Given the description of an element on the screen output the (x, y) to click on. 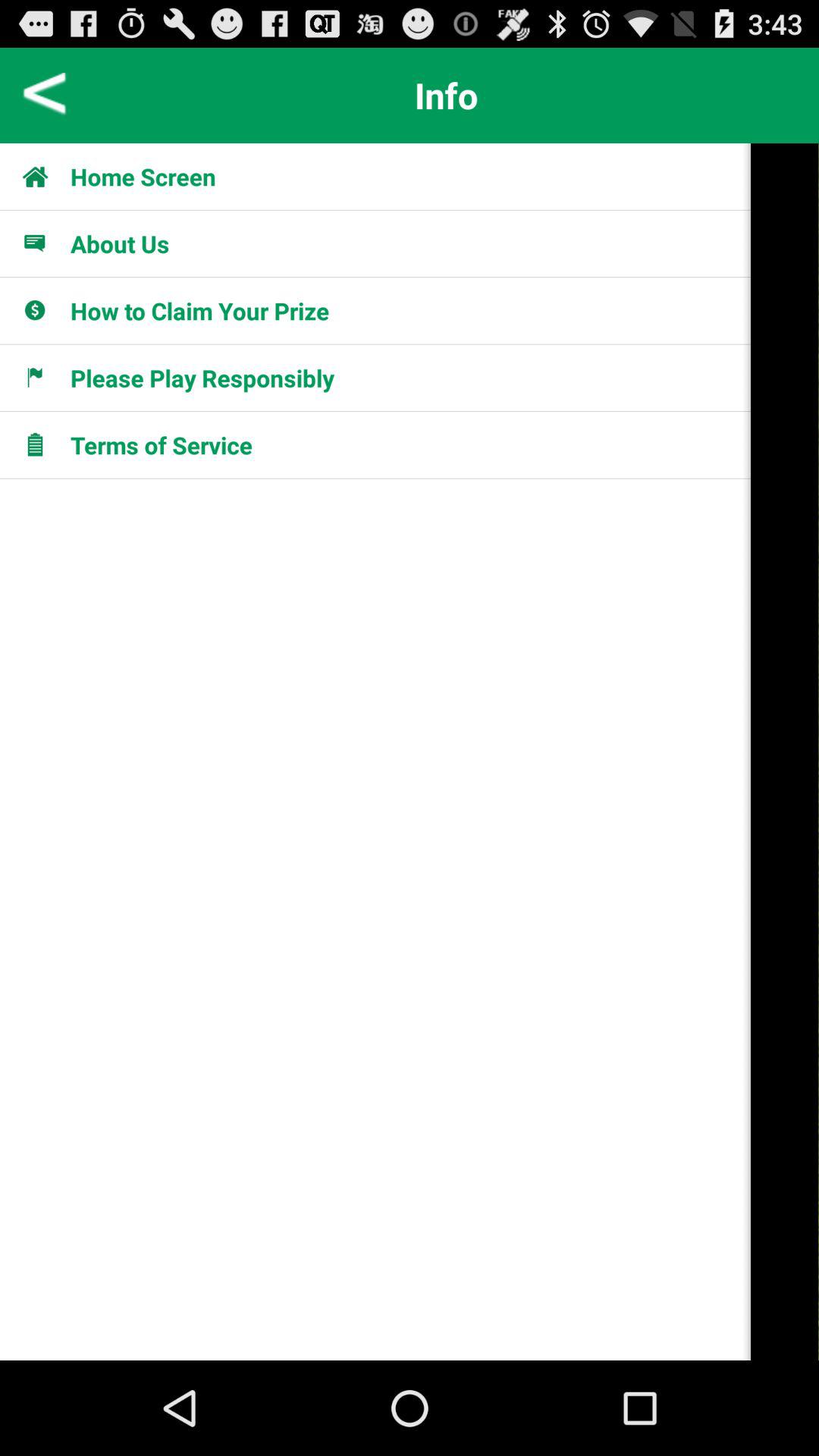
open item to the left of please play responsibly item (43, 377)
